Given the description of an element on the screen output the (x, y) to click on. 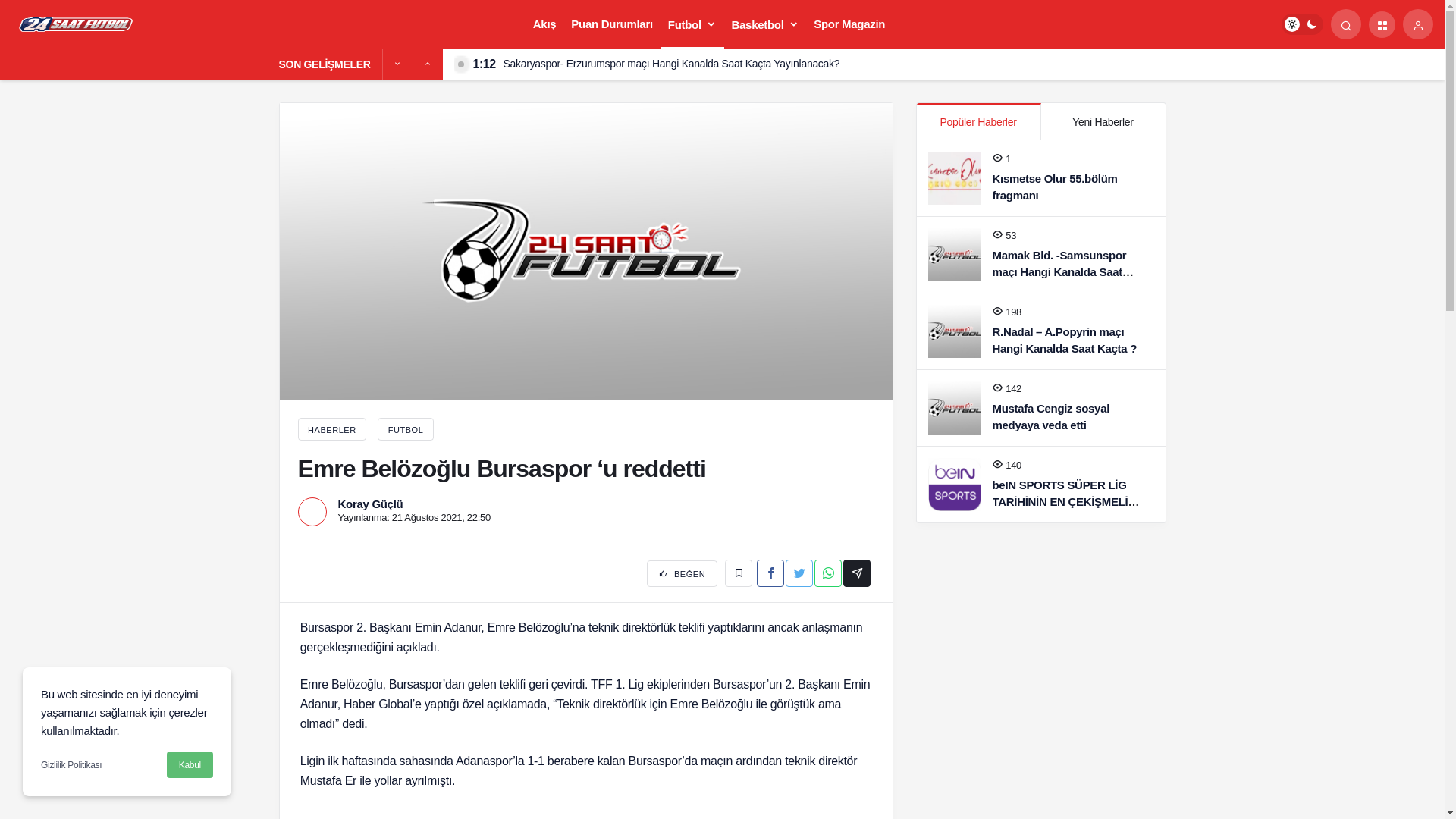
Basketbol Element type: text (765, 24)
Favorilerime Ekle Element type: hover (738, 572)
Spor Magazin Element type: text (849, 24)
Futbol Element type: text (692, 24)
Kabul Element type: text (189, 764)
FUTBOL Element type: text (405, 429)
Mustafa Cengiz sosyal medyaya veda etti Element type: text (1050, 416)
HABERLER Element type: text (331, 428)
24 Saat Futbol Element type: hover (77, 22)
